Given the description of an element on the screen output the (x, y) to click on. 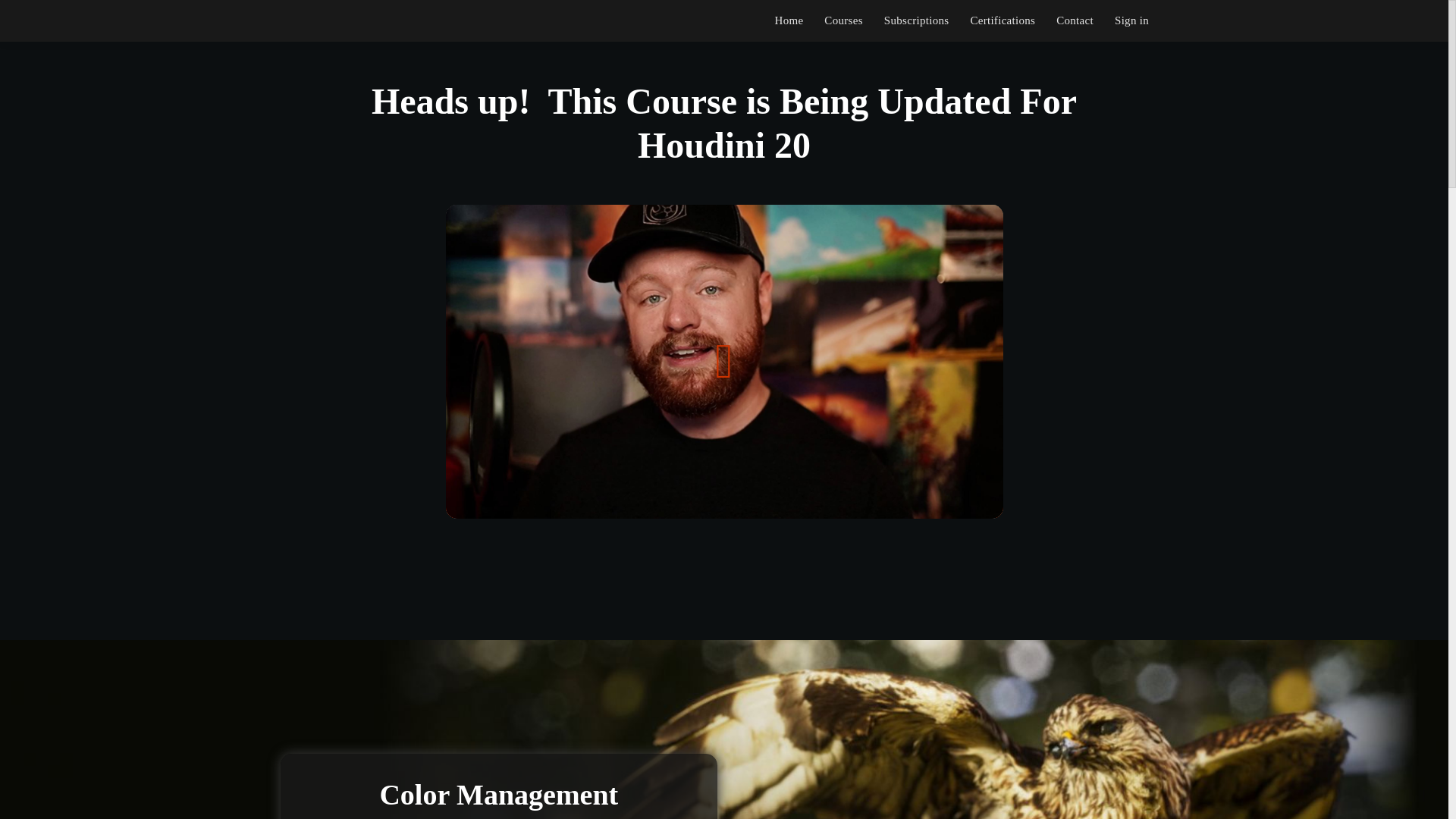
Sign in (1131, 20)
Certifications (1002, 20)
Courses (842, 20)
Home (788, 20)
Contact (1075, 20)
Subscriptions (916, 20)
